Given the description of an element on the screen output the (x, y) to click on. 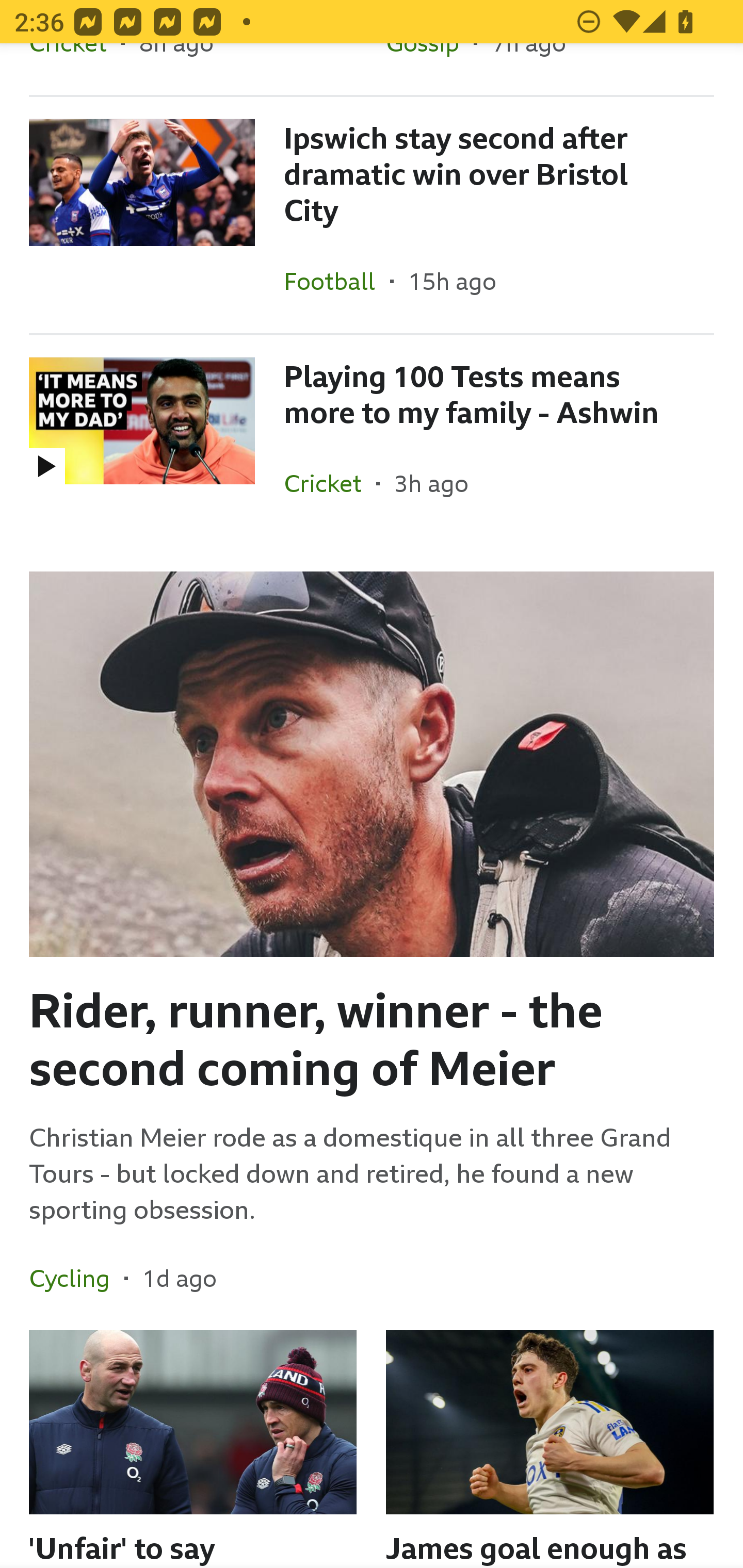
Football In the section Football (336, 280)
Cricket In the section Cricket (329, 482)
Cycling In the section Cycling (76, 1277)
James goal enough as Leeds overcome Stoke (549, 1448)
